Given the description of an element on the screen output the (x, y) to click on. 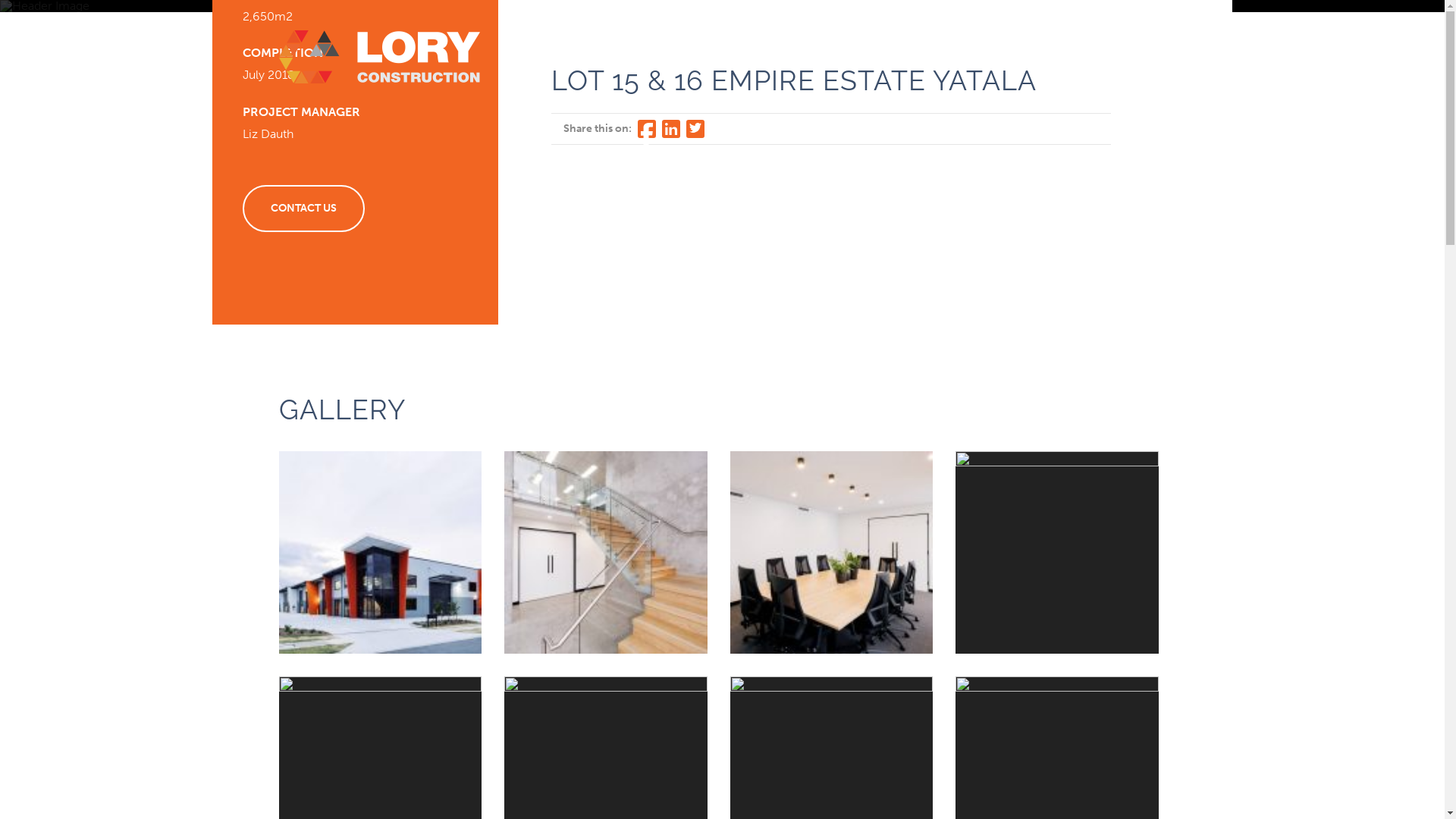
CONTACT US Element type: text (303, 208)
ABOUT Element type: text (794, 58)
GALLERY Element type: text (1000, 58)
NEWS Element type: text (935, 58)
PROJECTS Element type: text (866, 58)
HOME Element type: text (732, 58)
CONTACT Element type: text (1108, 55)
